Given the description of an element on the screen output the (x, y) to click on. 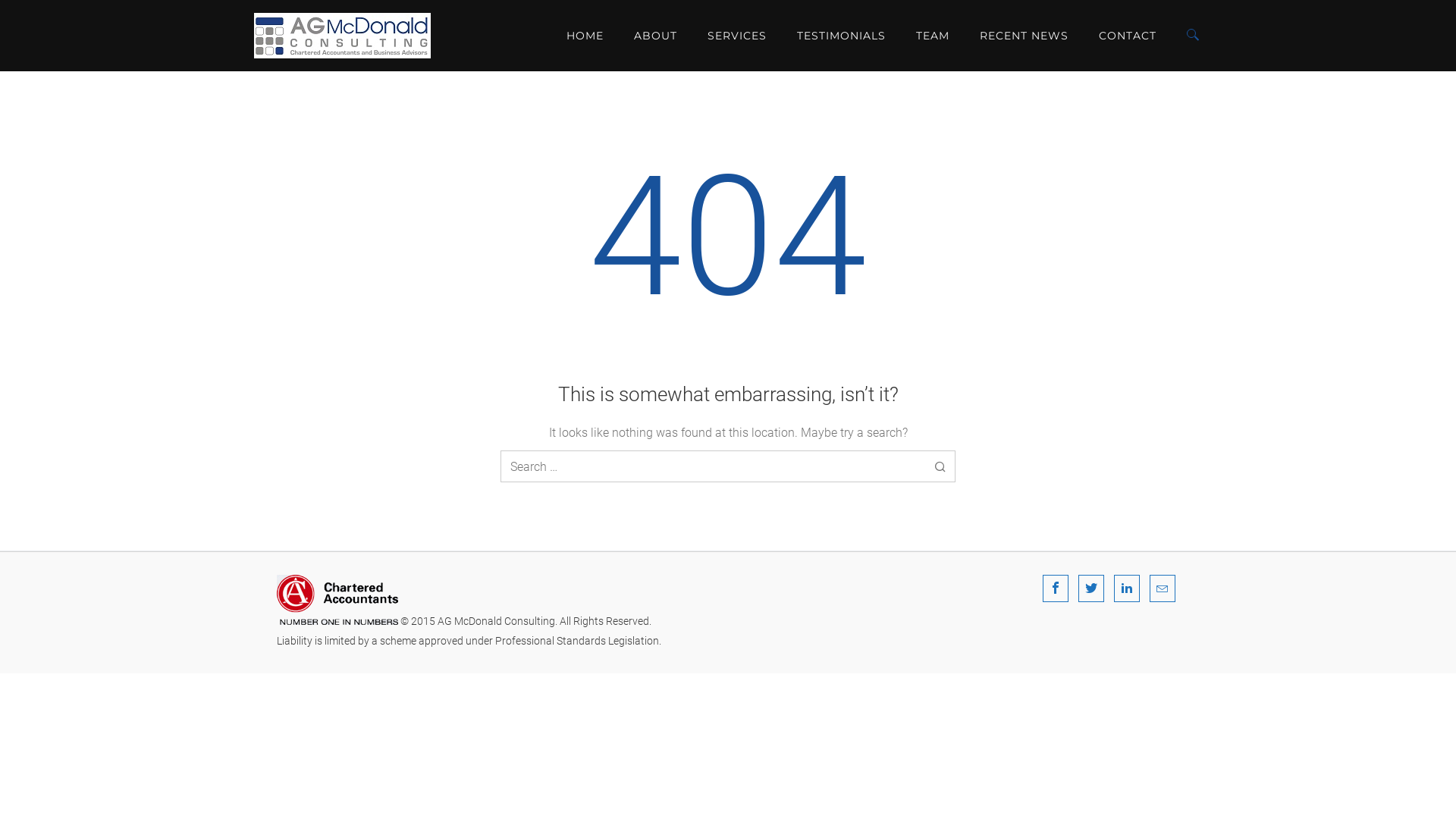
Search Element type: text (1171, 43)
TEAM Element type: text (932, 35)
ABOUT Element type: text (655, 35)
TESTIMONIALS Element type: text (840, 35)
Search Element type: text (940, 466)
CONTACT Element type: text (1127, 35)
RECENT NEWS Element type: text (1023, 35)
SERVICES Element type: text (736, 35)
HOME Element type: text (584, 35)
